Given the description of an element on the screen output the (x, y) to click on. 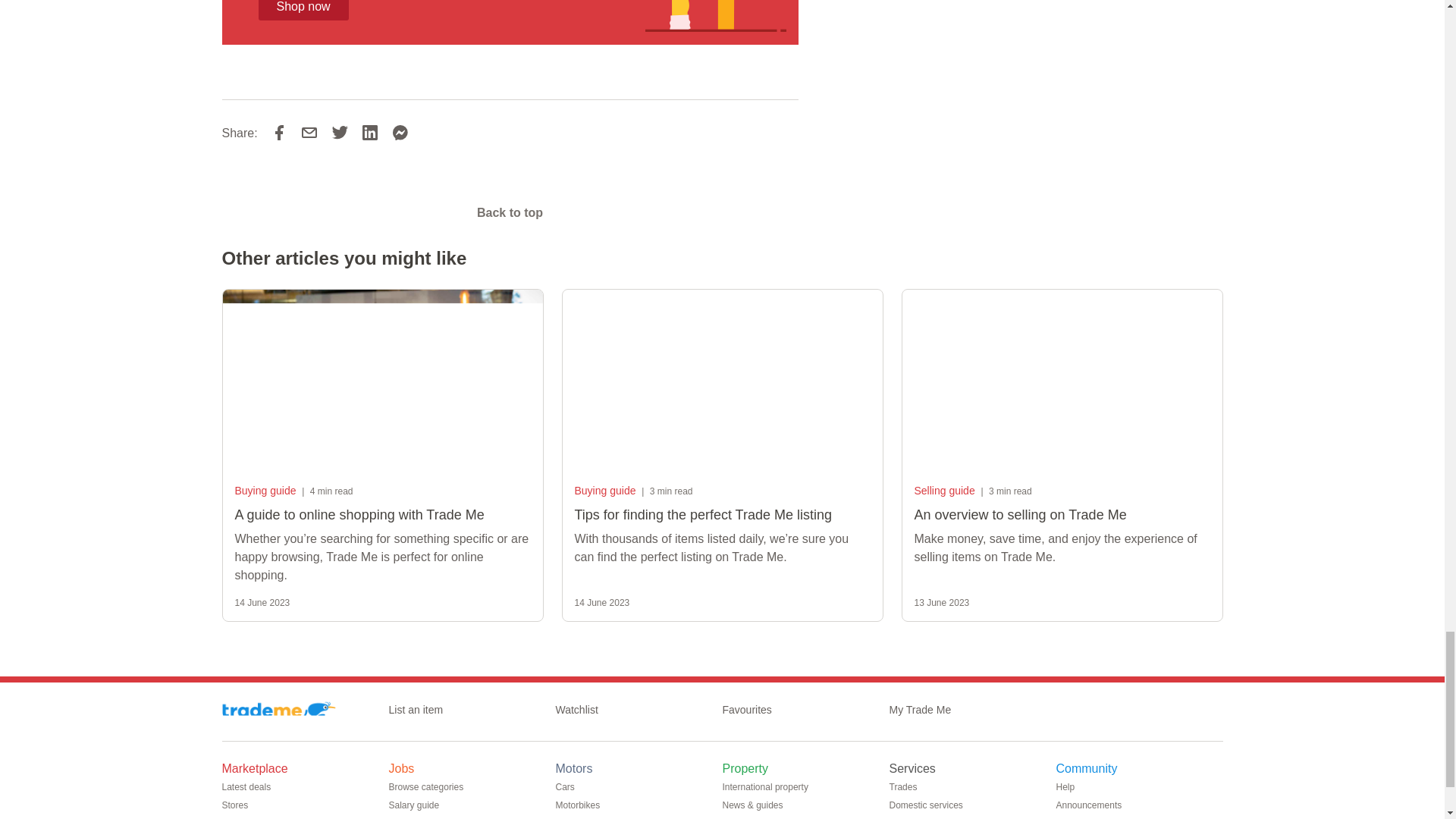
Share on LinkedIn (369, 132)
Latest deals (251, 787)
Marketplace (260, 769)
List an item (421, 710)
Careers advice (424, 816)
Cars (570, 787)
Motorbikes (582, 805)
Watchlist (582, 710)
Browse categories (432, 787)
Favourites (752, 710)
